Given the description of an element on the screen output the (x, y) to click on. 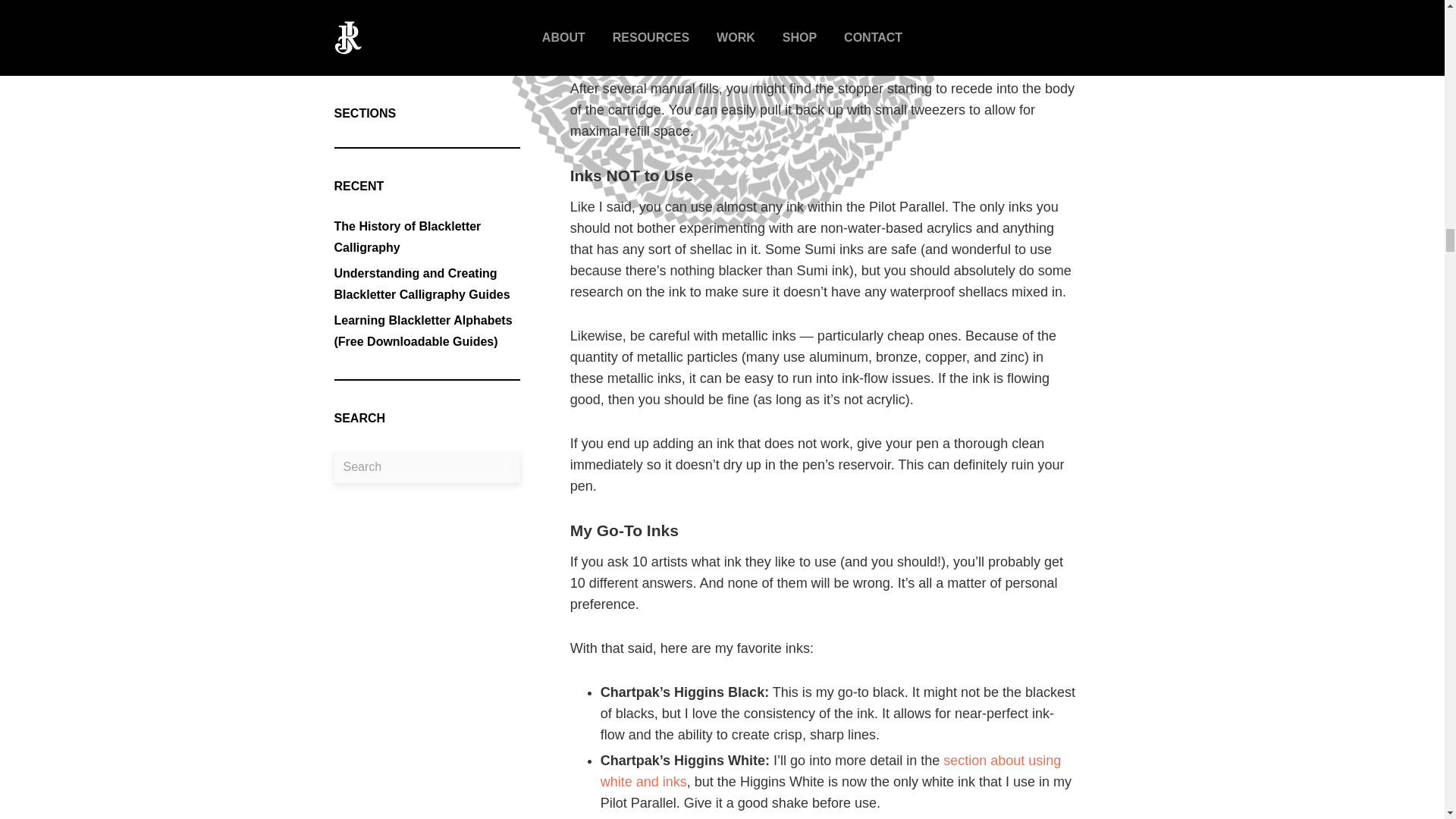
section about using white and inks (830, 770)
